Given the description of an element on the screen output the (x, y) to click on. 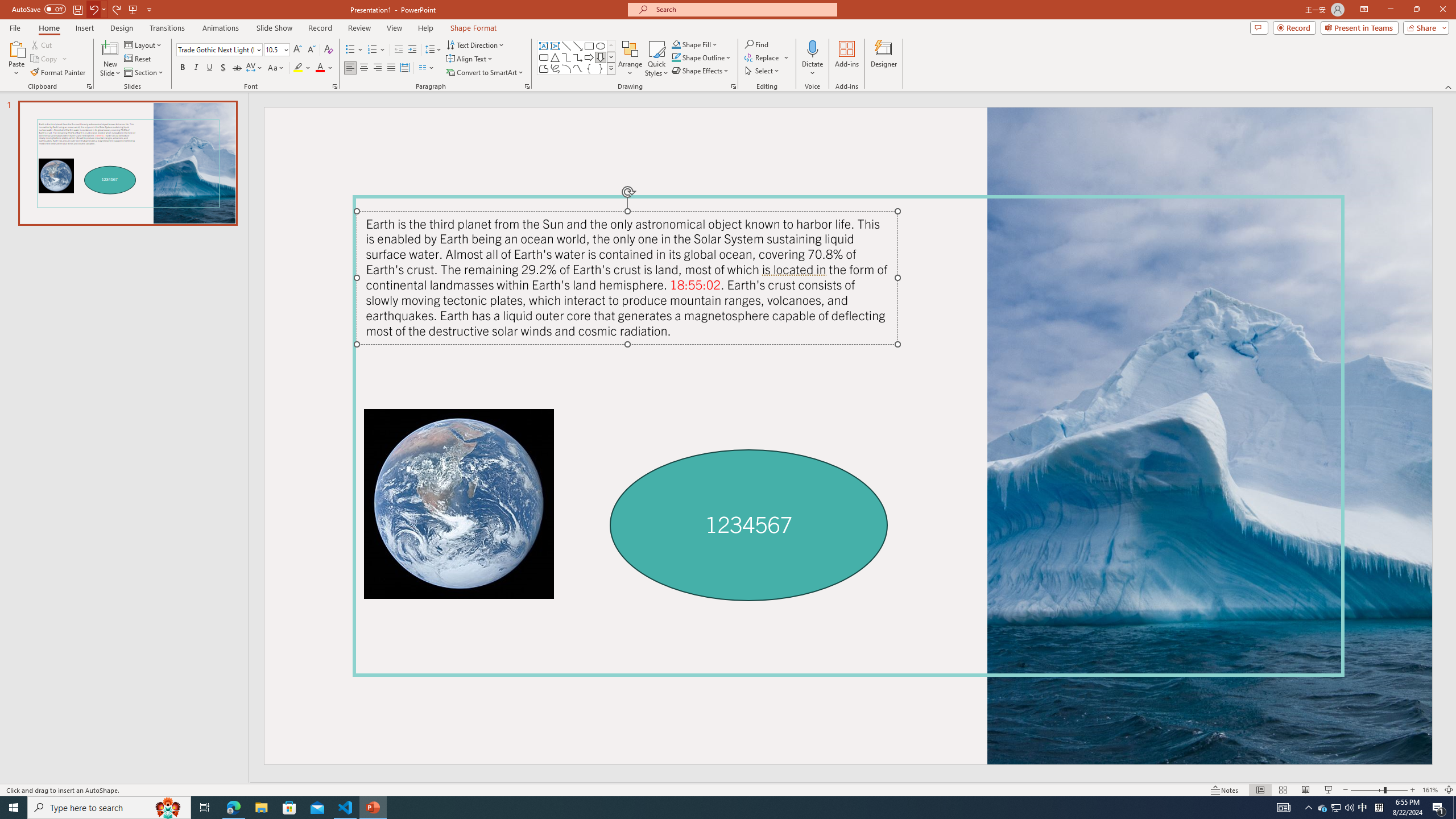
Shape Effects (700, 69)
Zoom 161% (1430, 790)
